Given the description of an element on the screen output the (x, y) to click on. 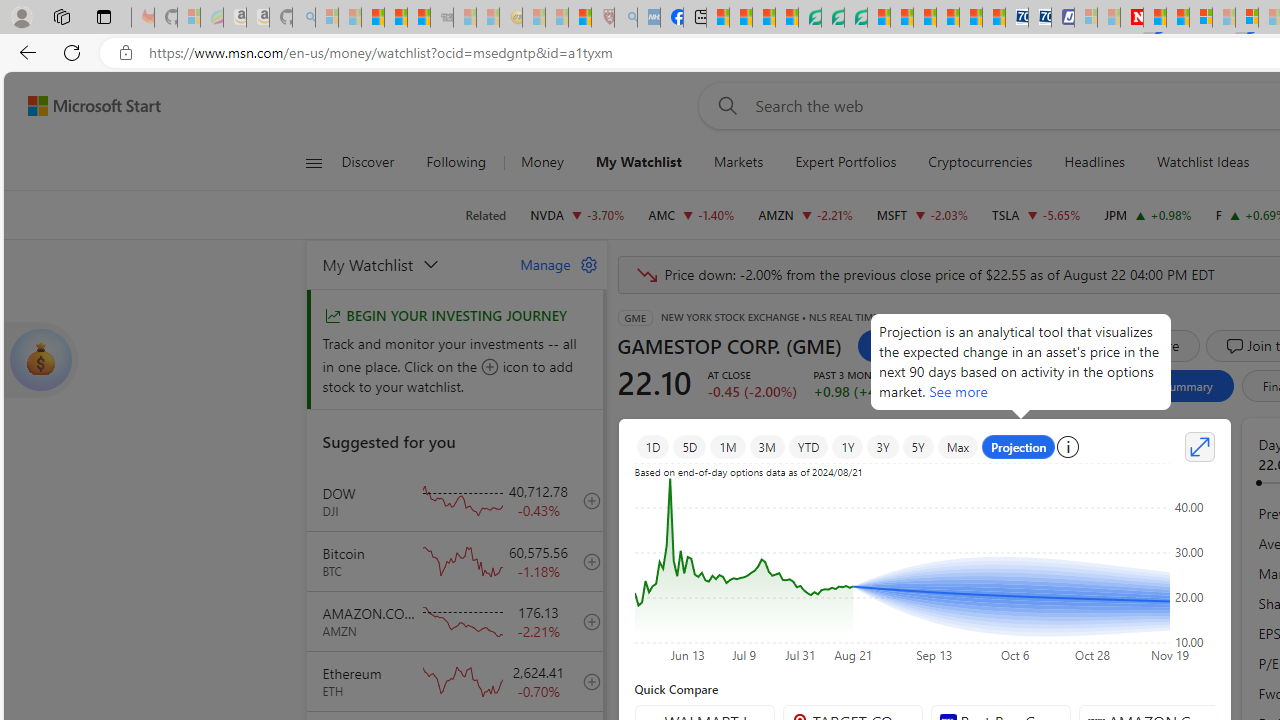
The Weather Channel - MSN (372, 17)
Money (541, 162)
Cheap Car Rentals - Save70.com (1016, 17)
Watchlist (912, 345)
Class: button-glyph (313, 162)
My Watchlist (409, 264)
Cryptocurrencies (980, 162)
Local - MSN (580, 17)
Watchlist Ideas (1202, 162)
Robert H. Shmerling, MD - Harvard Health - Sleeping (602, 17)
